Given the description of an element on the screen output the (x, y) to click on. 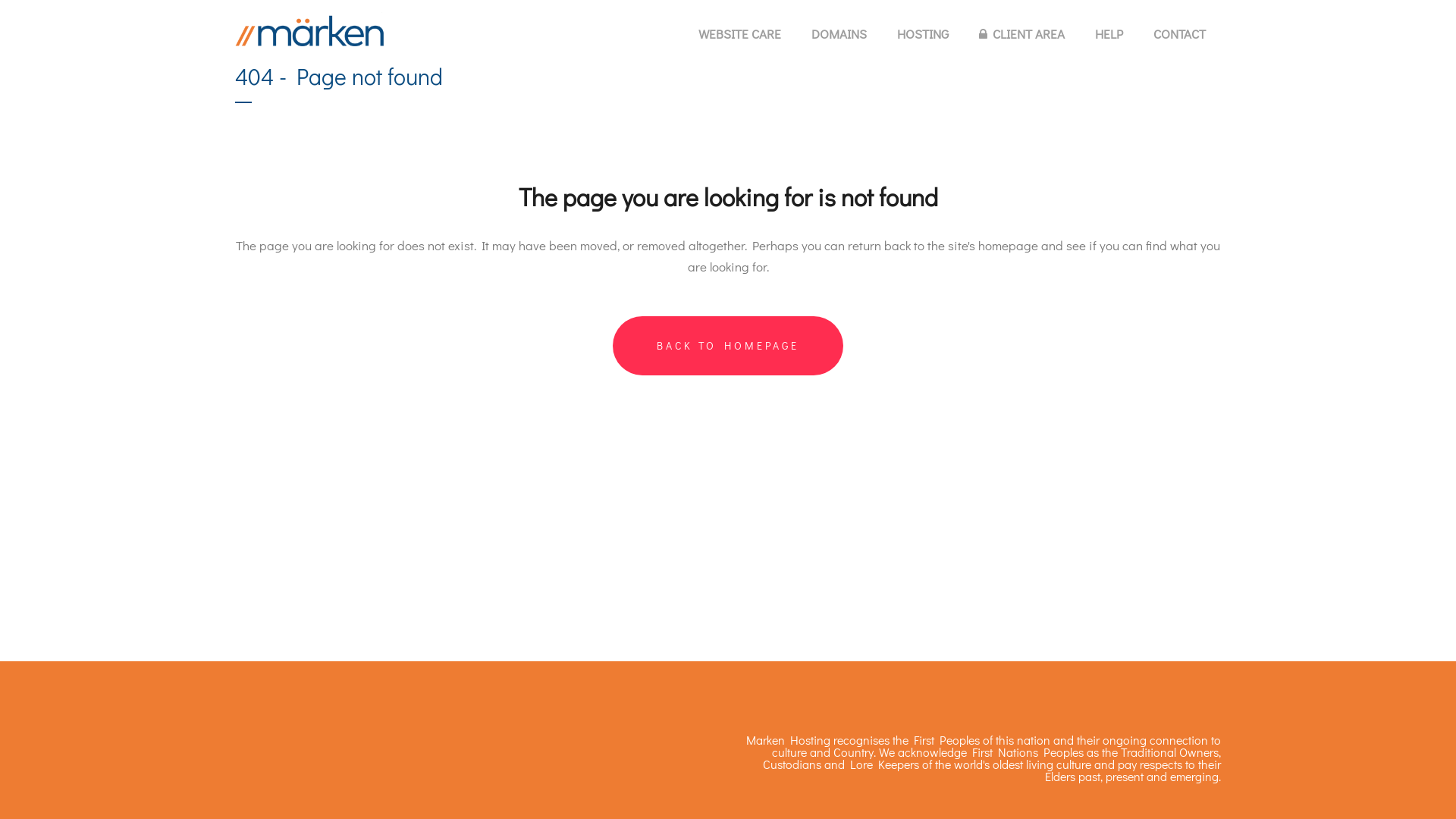
DOMAINS Element type: text (838, 34)
CONTACT Element type: text (1179, 34)
WEBSITE CARE Element type: text (739, 34)
BACK TO HOMEPAGE Element type: text (727, 345)
HELP Element type: text (1108, 34)
CLIENT AREA Element type: text (1021, 34)
HOSTING Element type: text (922, 34)
